Given the description of an element on the screen output the (x, y) to click on. 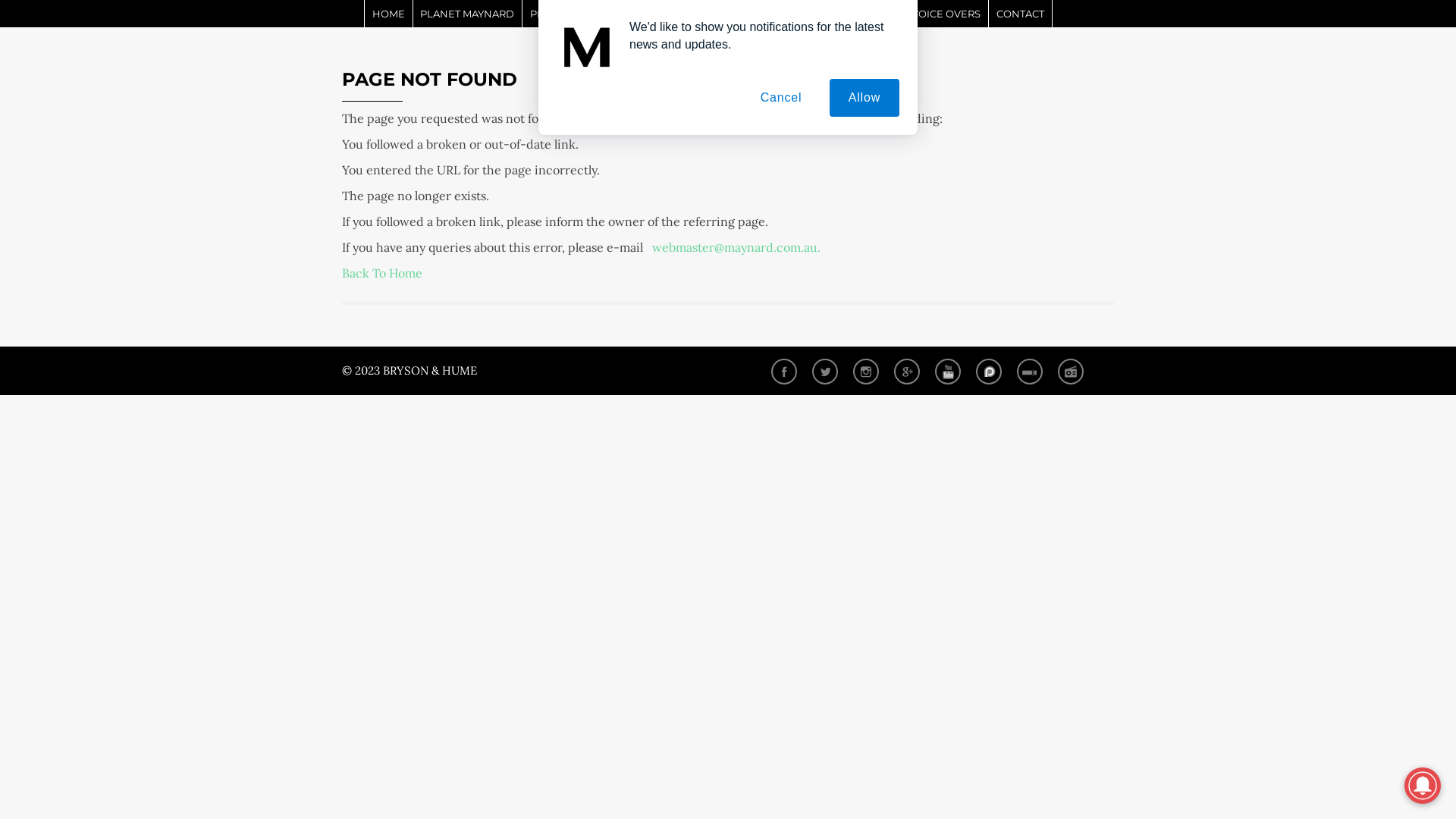
CONTACT Element type: text (1020, 13)
MAYNARD APPROVED SHOWS Element type: text (665, 13)
MAYNARD? Element type: text (785, 13)
Cancel Element type: text (781, 97)
VOICE OVERS Element type: text (946, 13)
HOME Element type: text (388, 13)
PAGE NOT FOUND Element type: text (429, 79)
PLANET MAYNARD Element type: text (468, 13)
Back To Home Element type: text (382, 272)
MAYNARD TV Element type: text (863, 13)
webmaster@maynard.com.au. Element type: text (736, 246)
Allow Element type: text (864, 97)
PHOTOS Element type: text (551, 13)
